Given the description of an element on the screen output the (x, y) to click on. 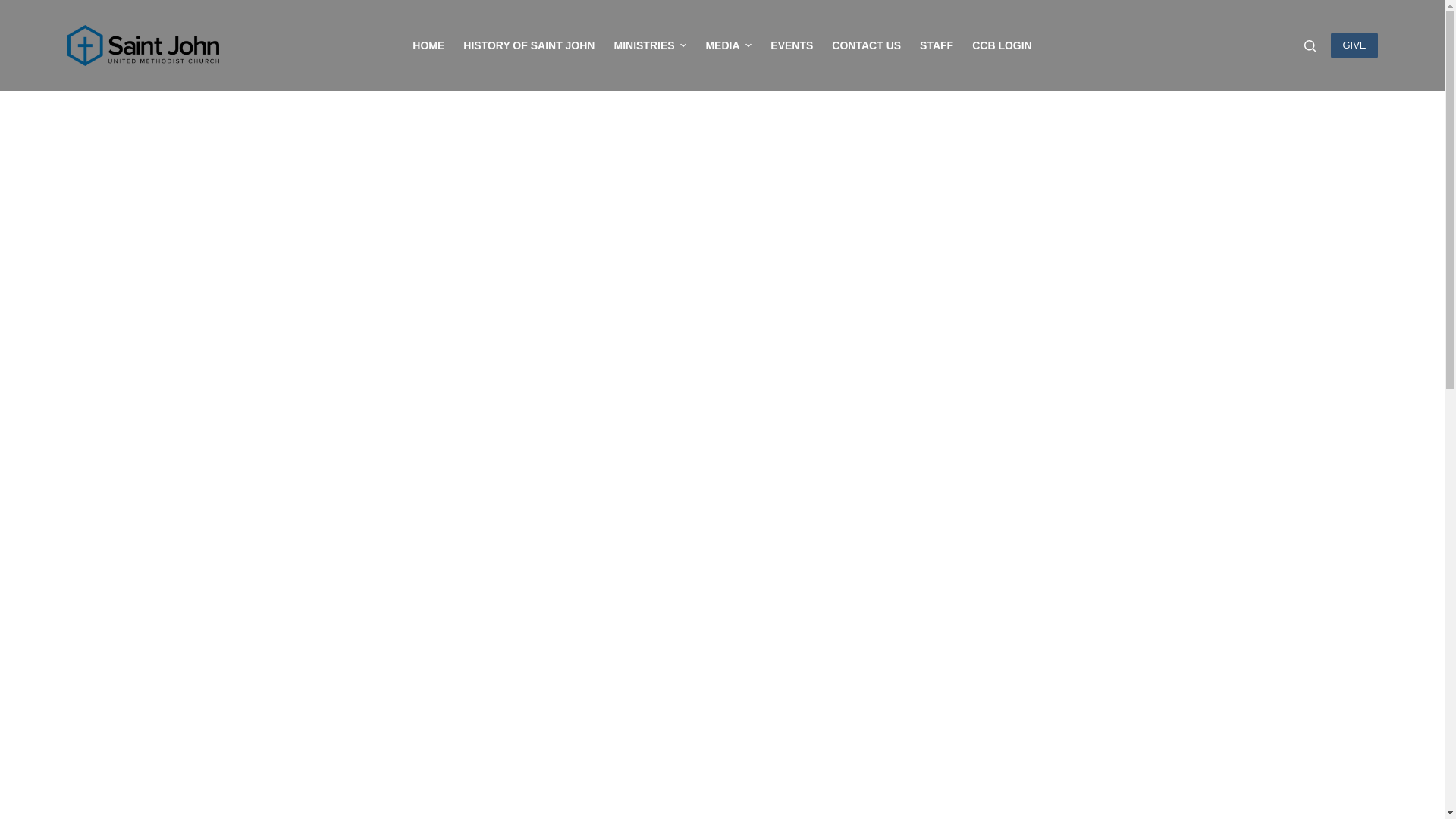
Skip to content (15, 7)
MINISTRIES (649, 45)
HISTORY OF SAINT JOHN (529, 45)
CONTACT US (866, 45)
